Given the description of an element on the screen output the (x, y) to click on. 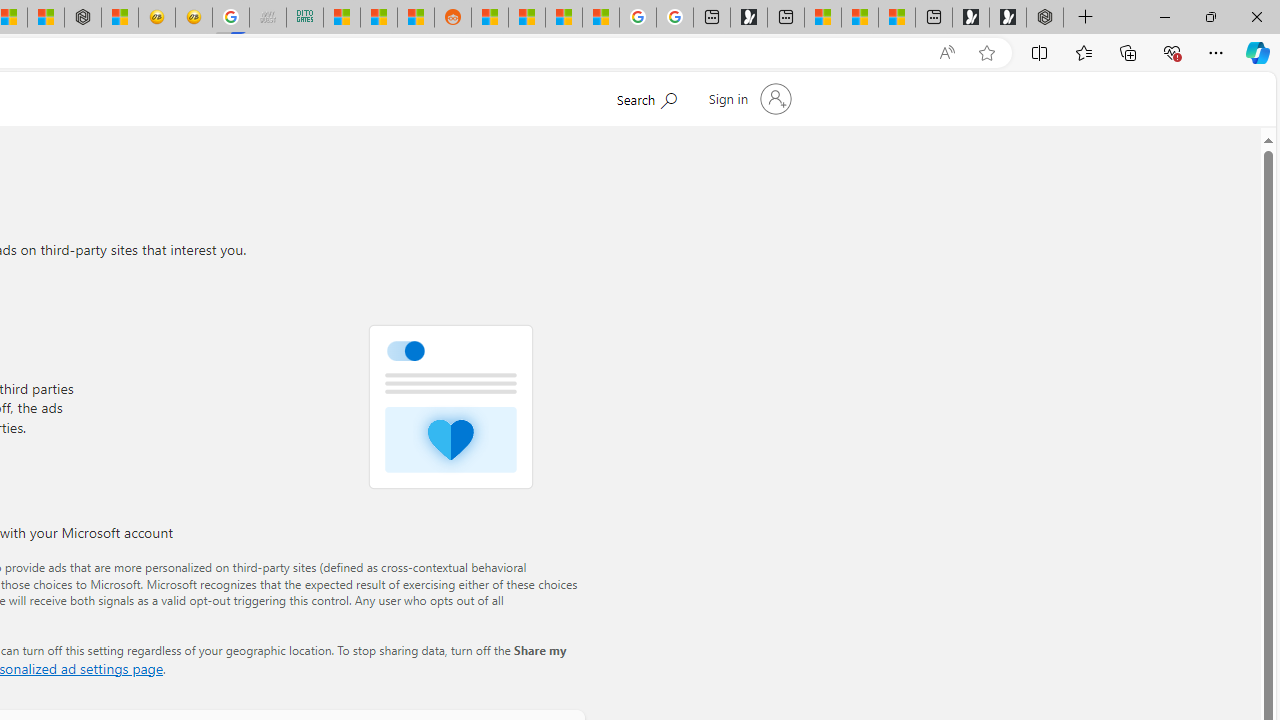
These 3 Stocks Pay You More Than 5% to Own Them (897, 17)
Nordace - #1 Japanese Best-Seller - Siena Smart Backpack (83, 17)
